Given the description of an element on the screen output the (x, y) to click on. 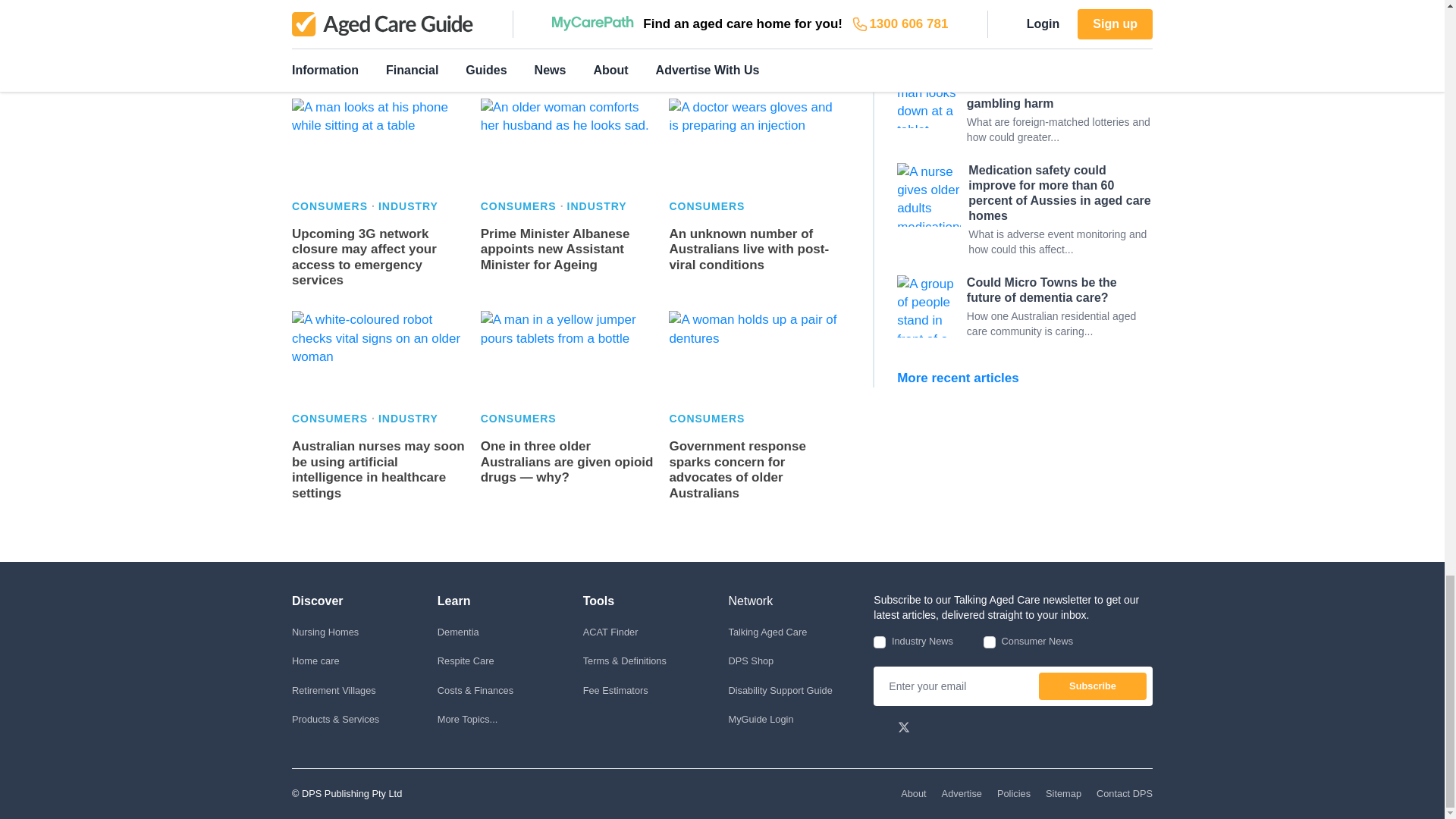
on (989, 642)
on (879, 642)
